Given the description of an element on the screen output the (x, y) to click on. 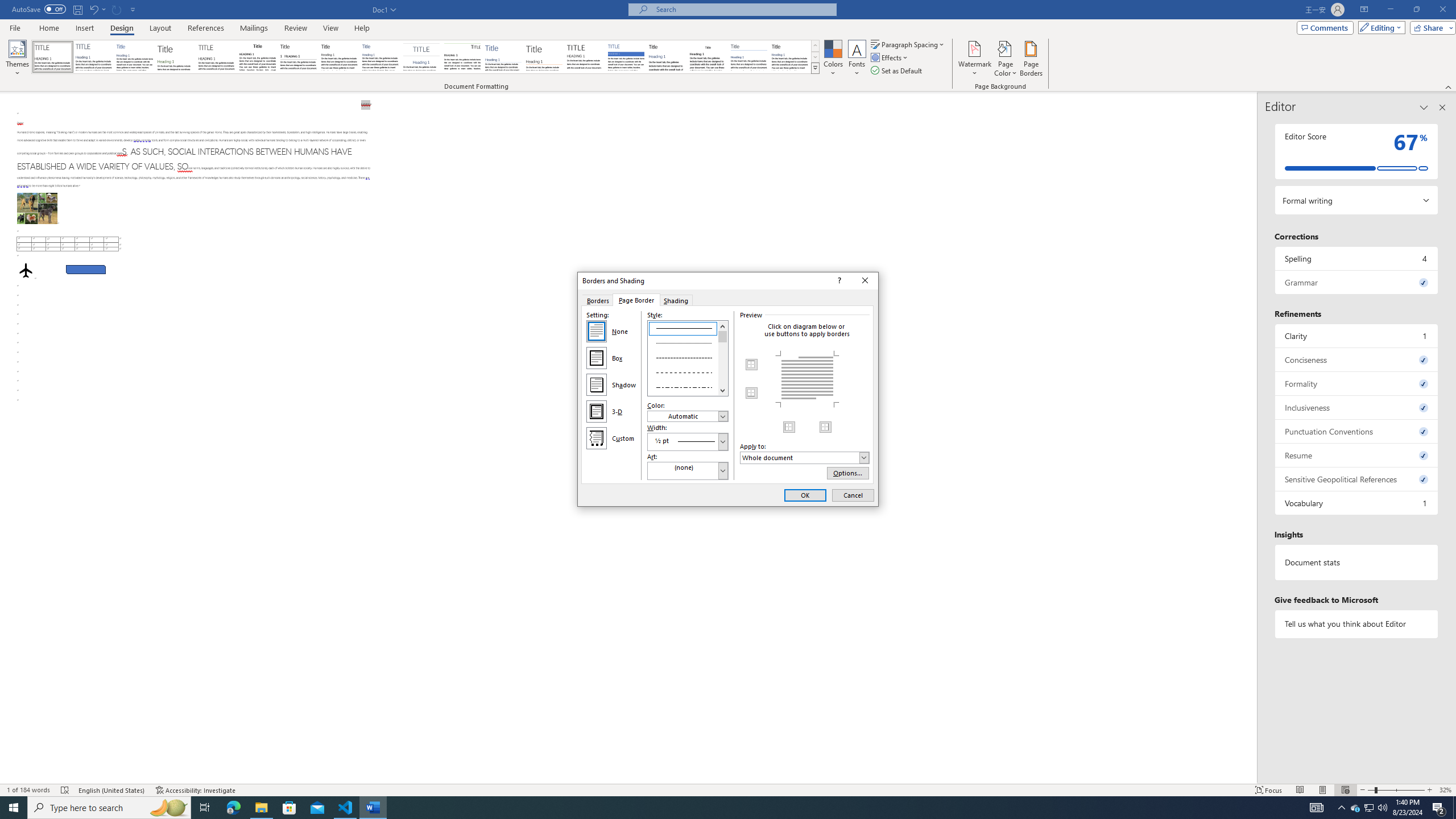
Visual Studio Code - 1 running window (345, 807)
Airplane with solid fill (25, 270)
Context help (838, 280)
OK (805, 495)
Spelling, 4 issues. Press space or enter to review items. (1355, 807)
Minimalist (1356, 258)
Shaded (584, 56)
Dashed (small gap) (625, 56)
